Given the description of an element on the screen output the (x, y) to click on. 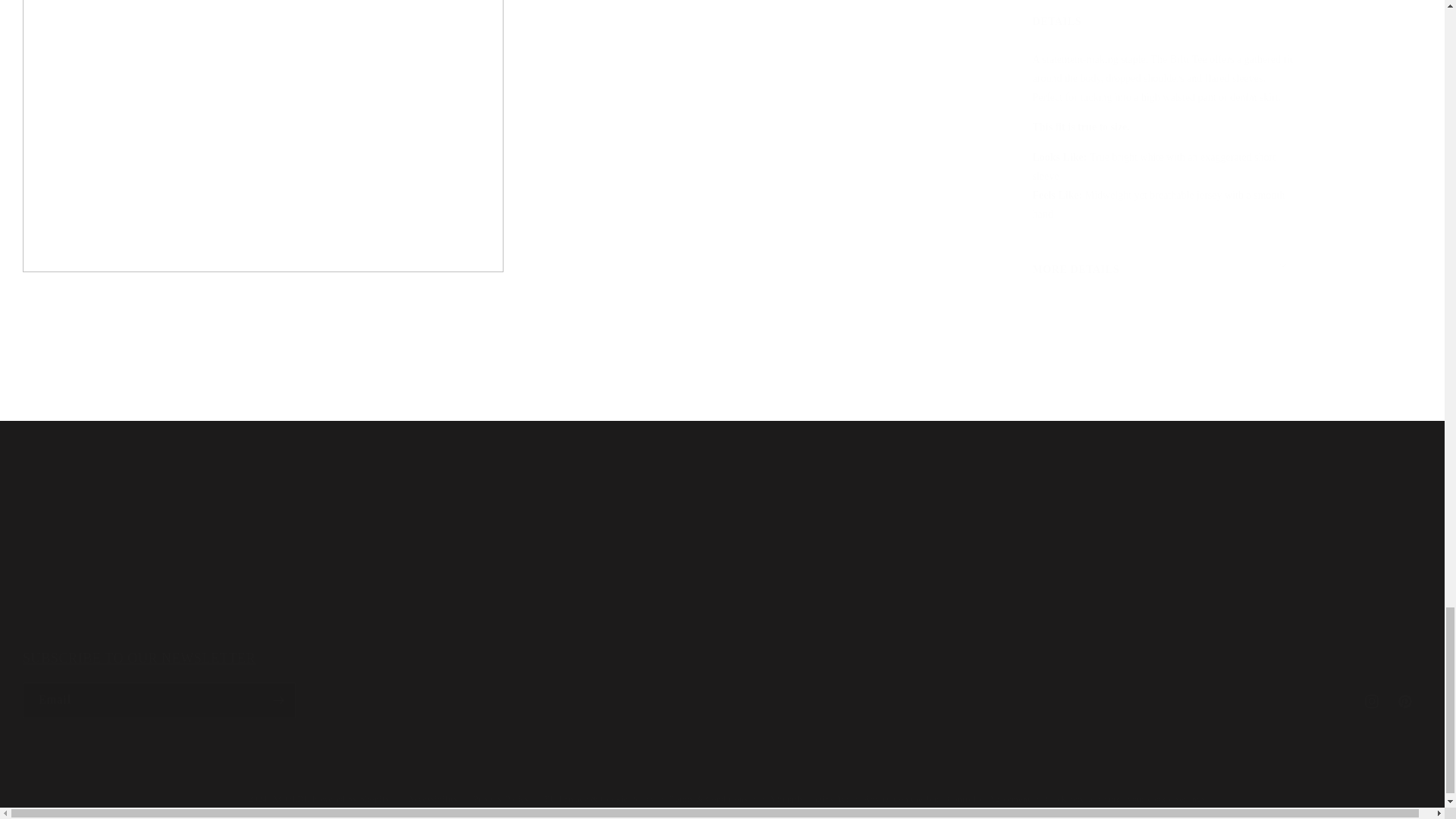
Open media 7 in modal (722, 684)
